Given the description of an element on the screen output the (x, y) to click on. 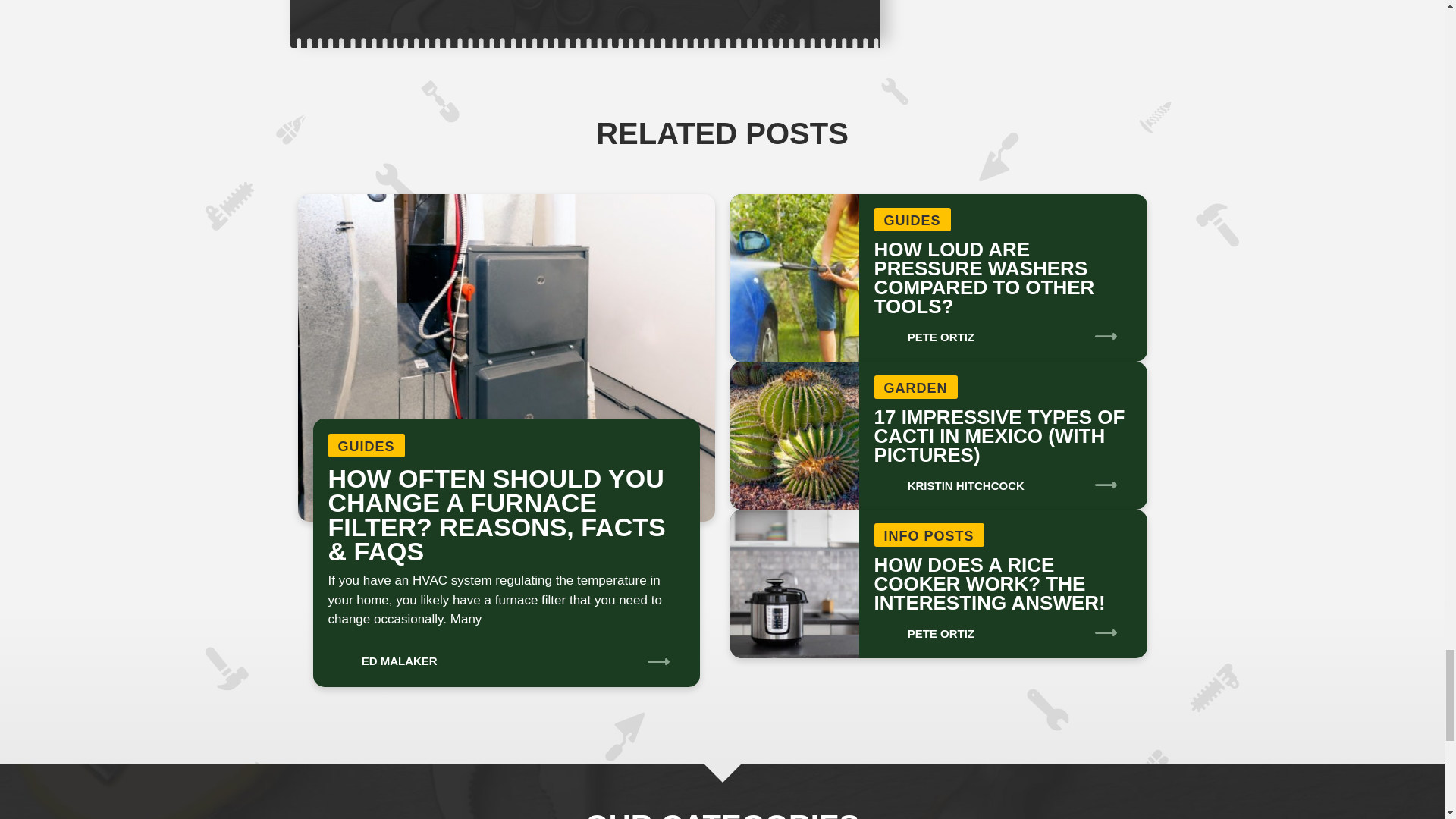
KRISTIN HITCHCOCK (948, 480)
PETE ORTIZ (923, 332)
HOW LOUD ARE PRESSURE WASHERS COMPARED TO OTHER TOOLS? (983, 277)
ED MALAKER (381, 655)
